Given the description of an element on the screen output the (x, y) to click on. 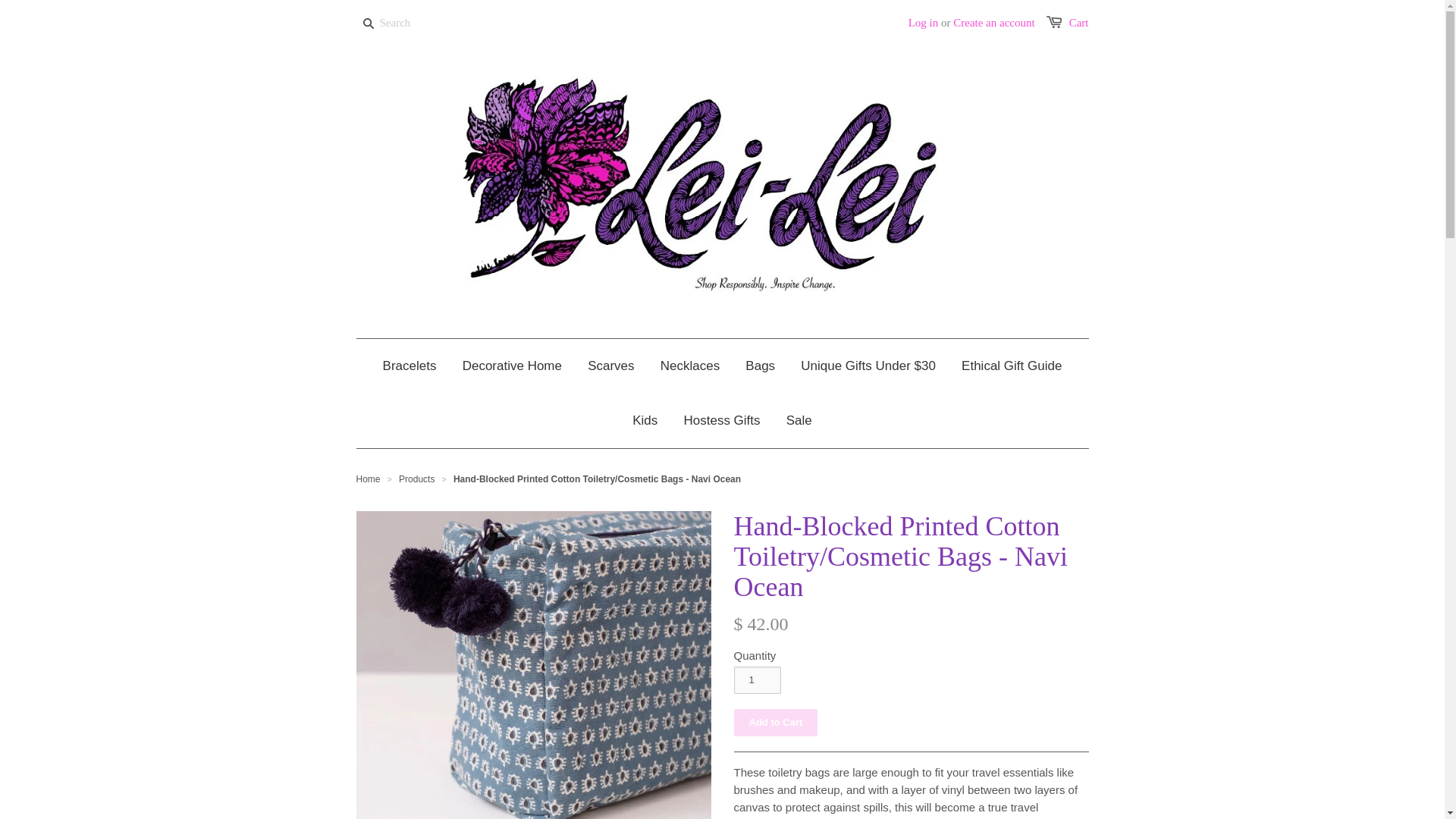
Lei-Lei (368, 479)
Necklaces (689, 366)
Decorative Home (512, 366)
Cart (1078, 22)
Hostess Gifts (721, 420)
Shopping Cart (1078, 22)
Sale (799, 420)
Bracelets (409, 366)
Products (415, 479)
Log in (923, 22)
Bags (759, 366)
Add to Cart (775, 721)
1 (756, 678)
Scarves (610, 366)
Home (368, 479)
